Given the description of an element on the screen output the (x, y) to click on. 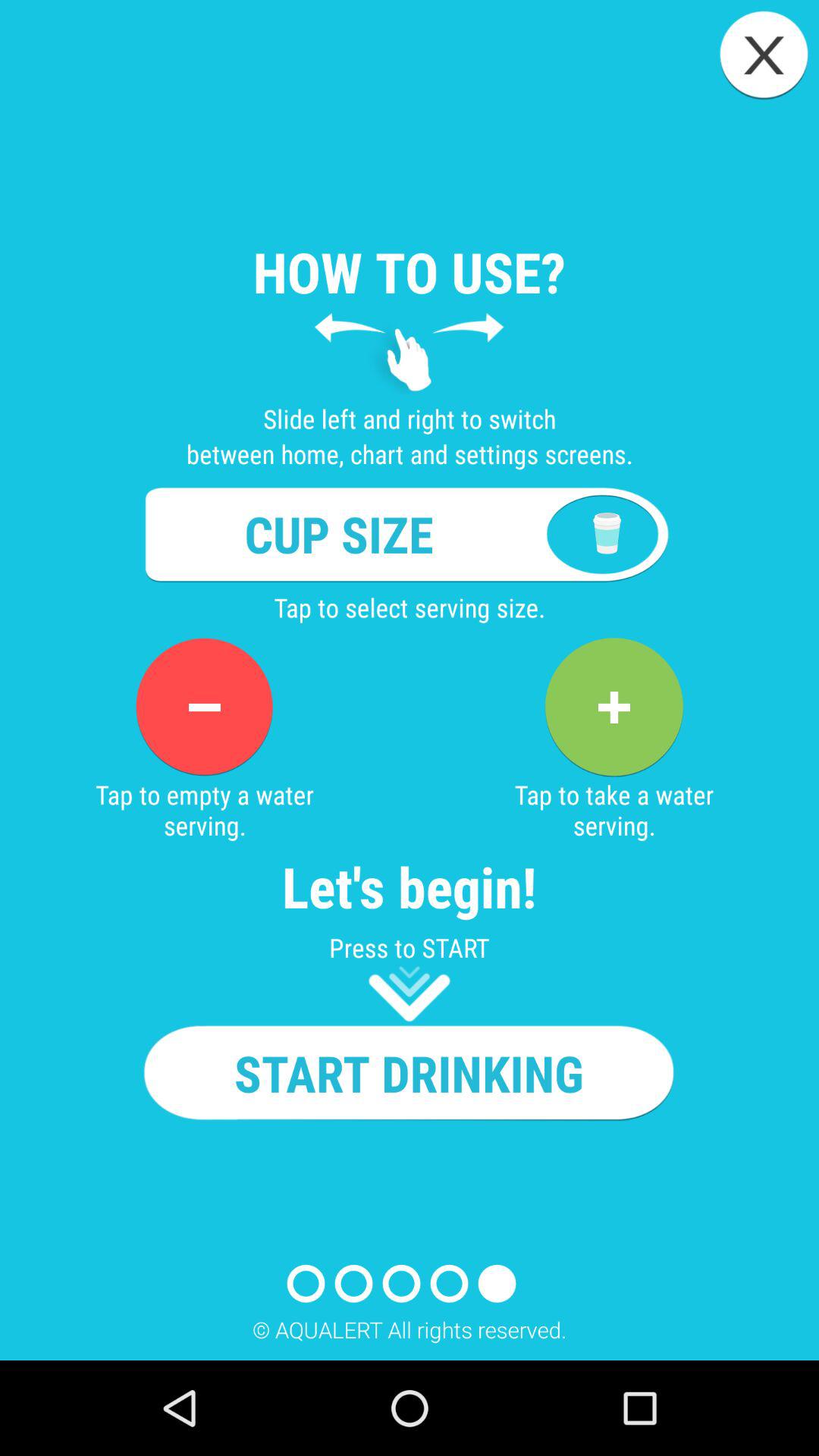
turn on item below the tap to select item (613, 706)
